Given the description of an element on the screen output the (x, y) to click on. 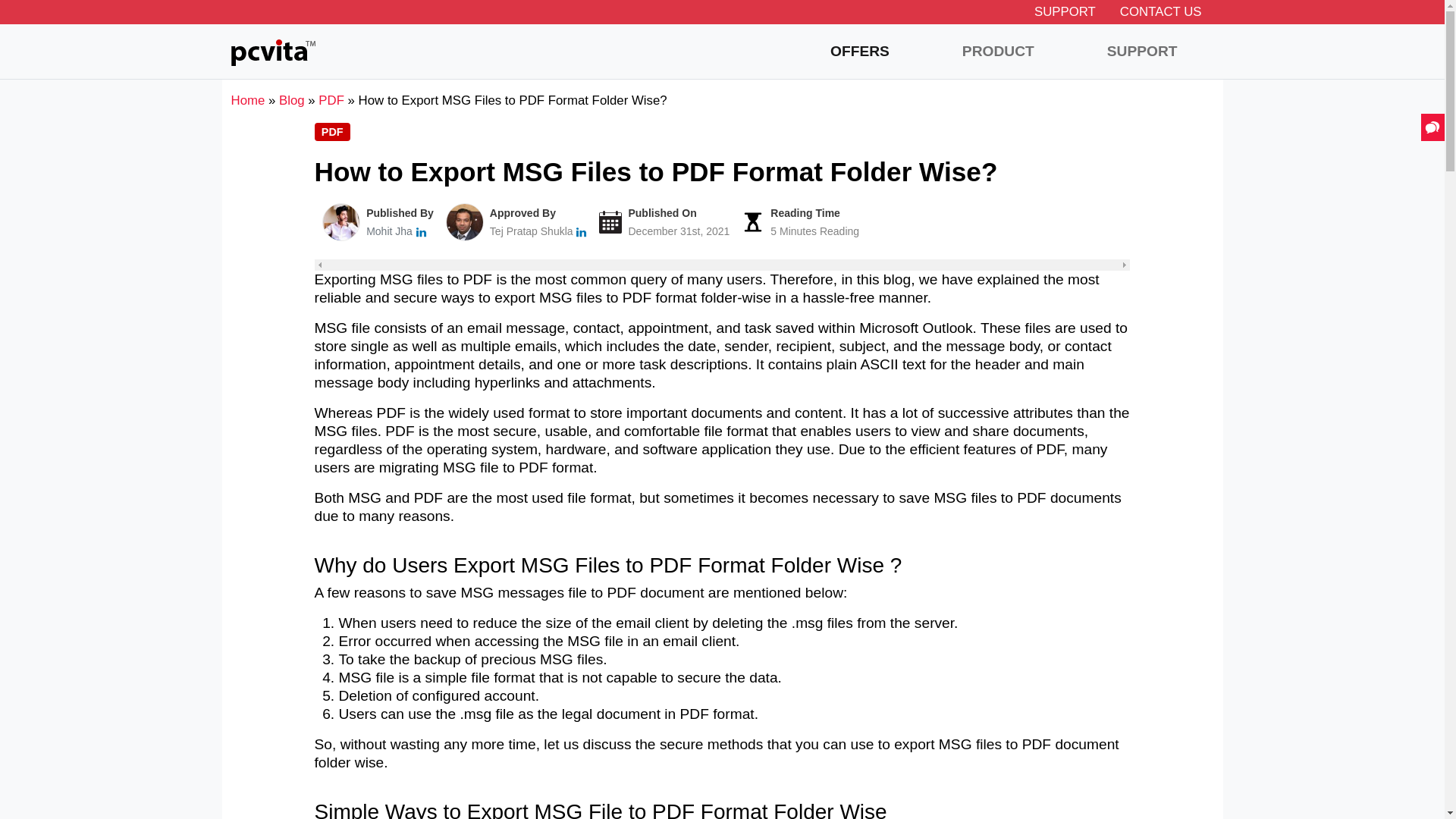
SUPPORT (1065, 11)
SUPPORT (1142, 51)
PRODUCT (998, 51)
Blog (291, 100)
Home (247, 100)
CONTACT US (1161, 11)
PDF (332, 131)
OFFERS (859, 51)
PDF (330, 100)
Mohit Jha (389, 231)
